Given the description of an element on the screen output the (x, y) to click on. 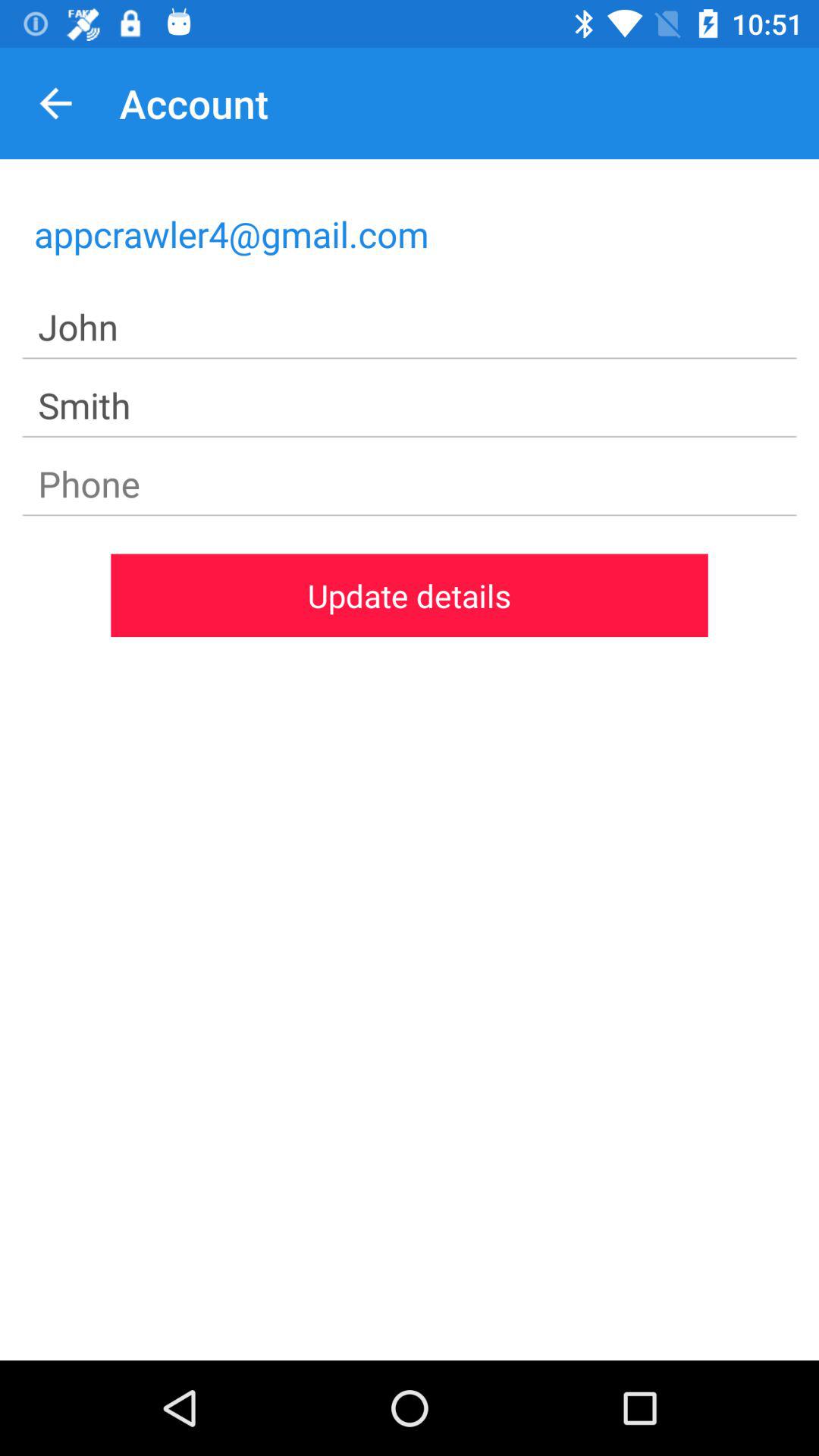
scroll until smith (409, 405)
